Given the description of an element on the screen output the (x, y) to click on. 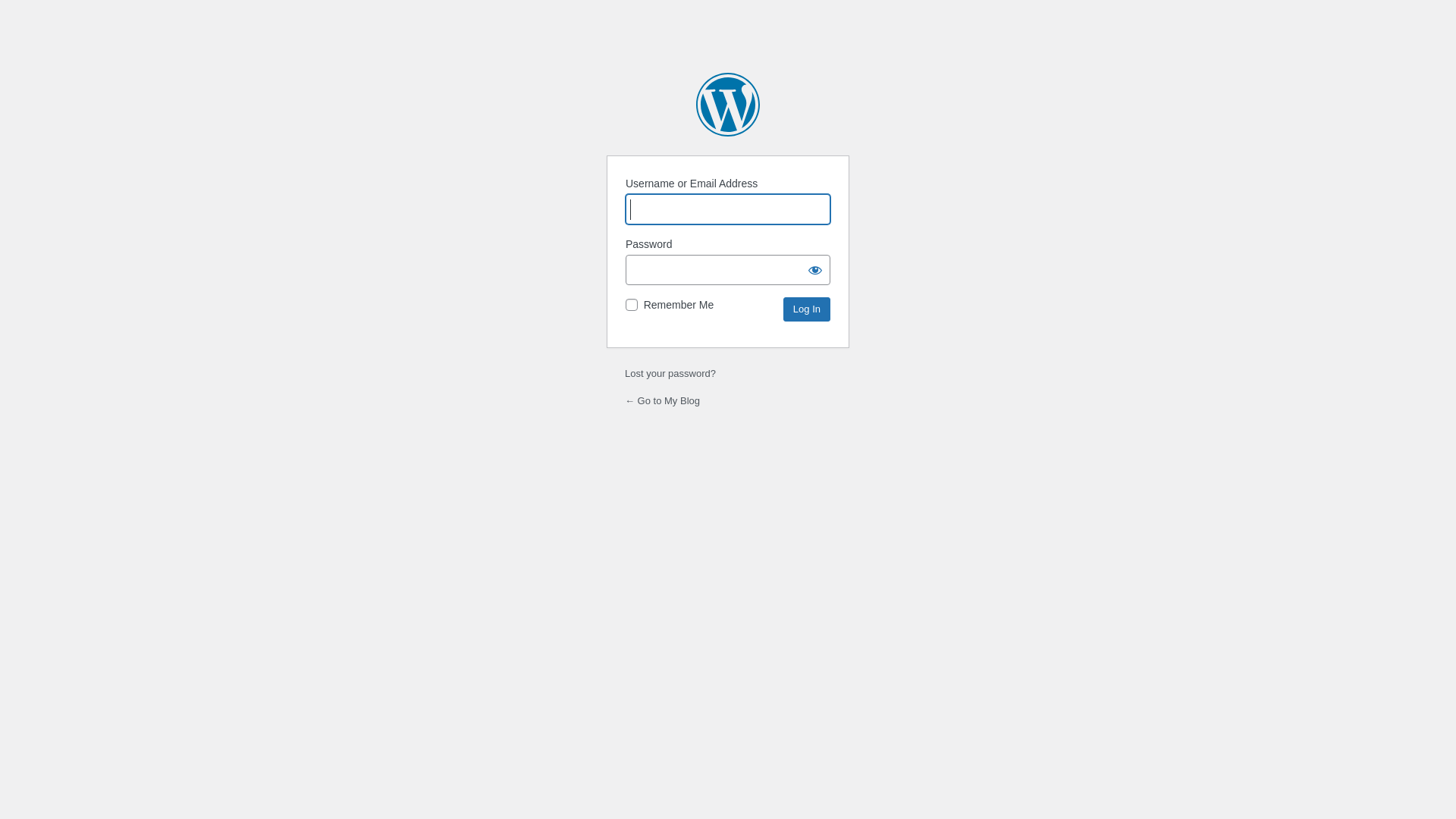
Powered by WordPress Element type: text (727, 104)
Log In Element type: text (806, 309)
Lost your password? Element type: text (669, 373)
